Given the description of an element on the screen output the (x, y) to click on. 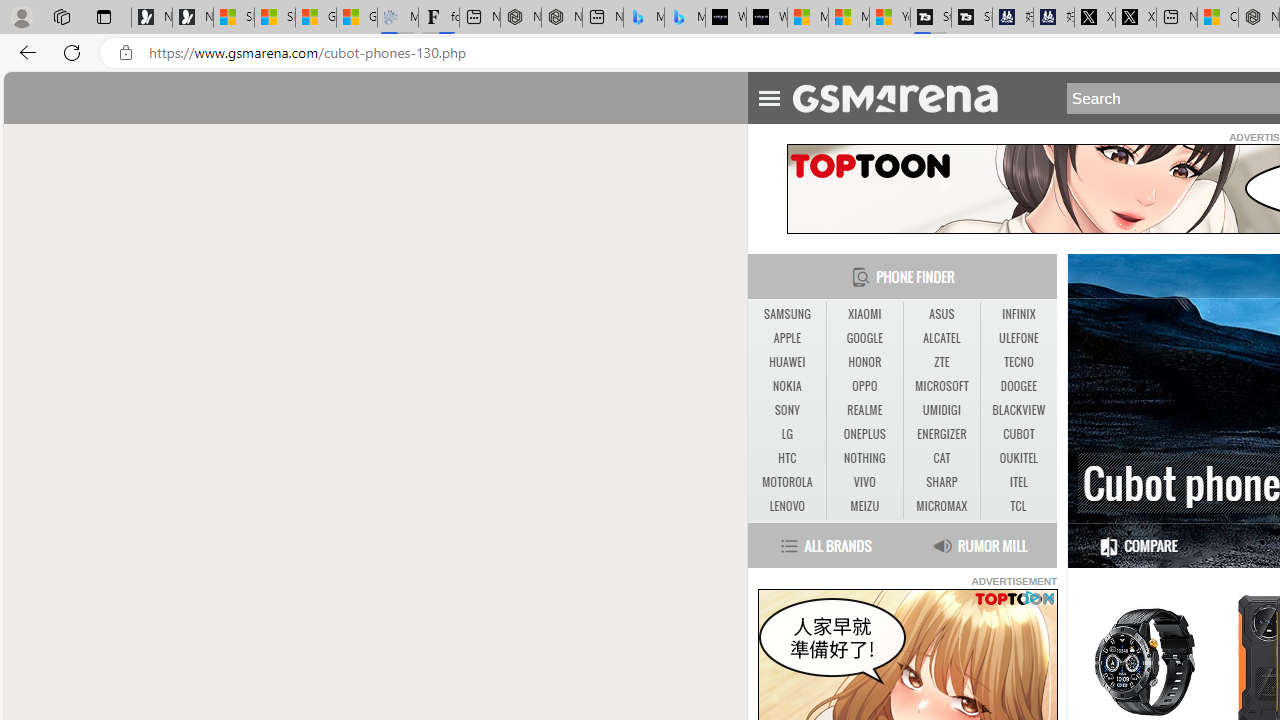
ENERGIZER (941, 434)
SAMSUNG (786, 313)
HONOR (863, 362)
ZTE (941, 362)
ITEL (1018, 482)
GOOGLE (864, 339)
INFINIX (1018, 314)
TECNO (1018, 362)
LENOVO (786, 506)
LG (786, 434)
